Given the description of an element on the screen output the (x, y) to click on. 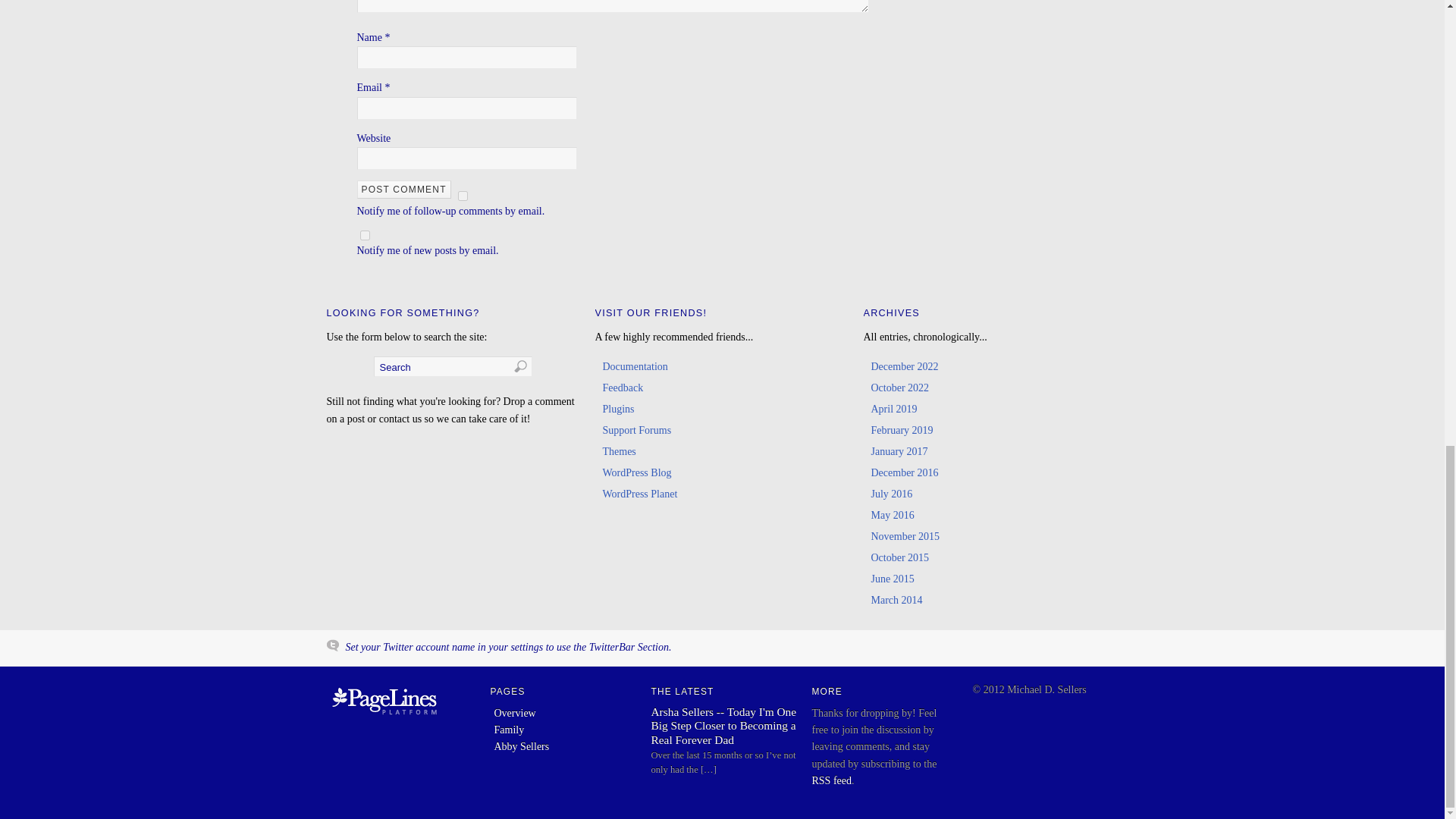
Post Comment (402, 189)
Search (451, 366)
Search (451, 366)
subscribe (364, 235)
subscribe (462, 195)
Post Comment (402, 189)
